Given the description of an element on the screen output the (x, y) to click on. 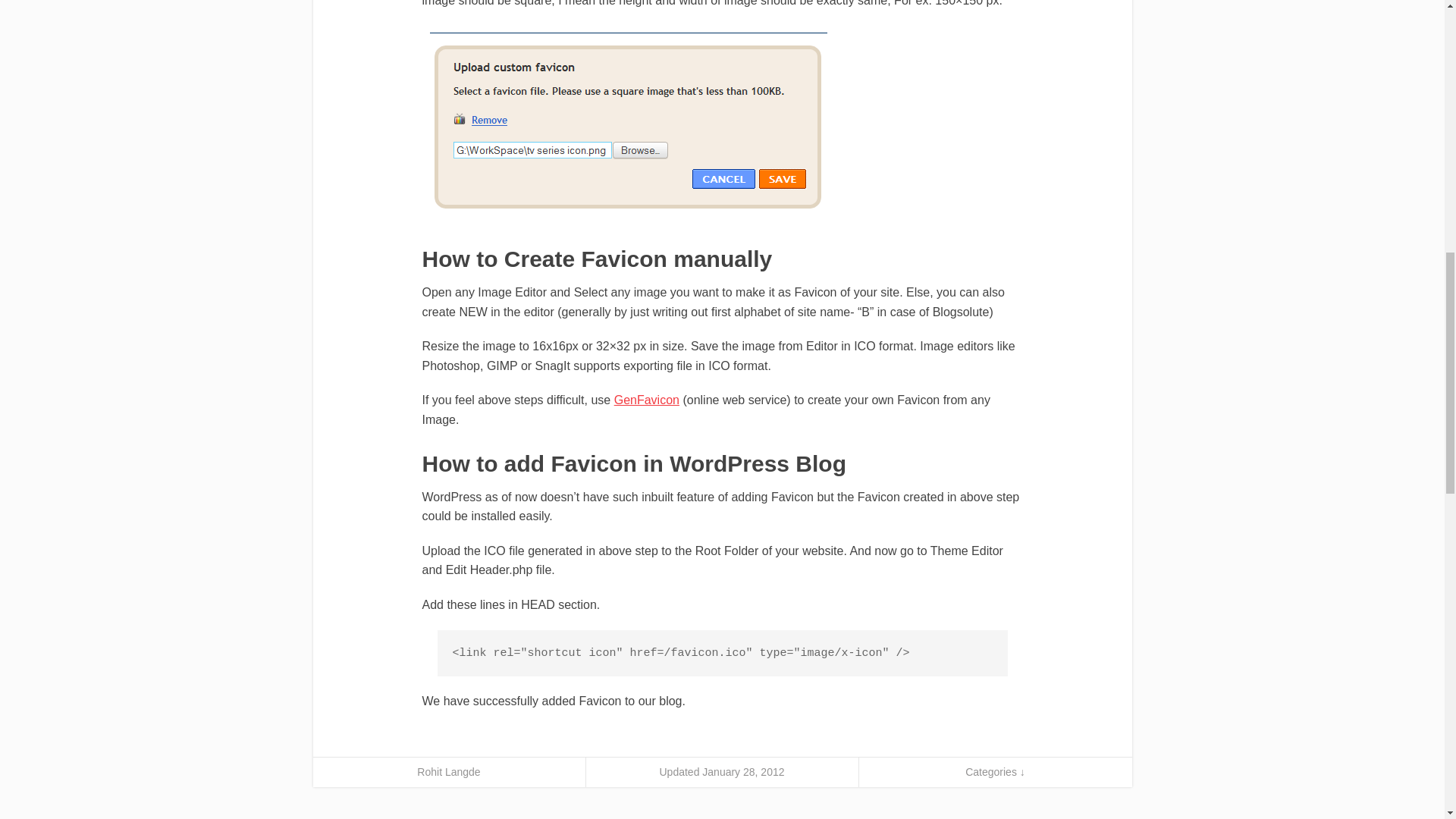
upload favicon blogspot (628, 121)
Rohit Langde (448, 771)
GenFavicon (646, 399)
